Given the description of an element on the screen output the (x, y) to click on. 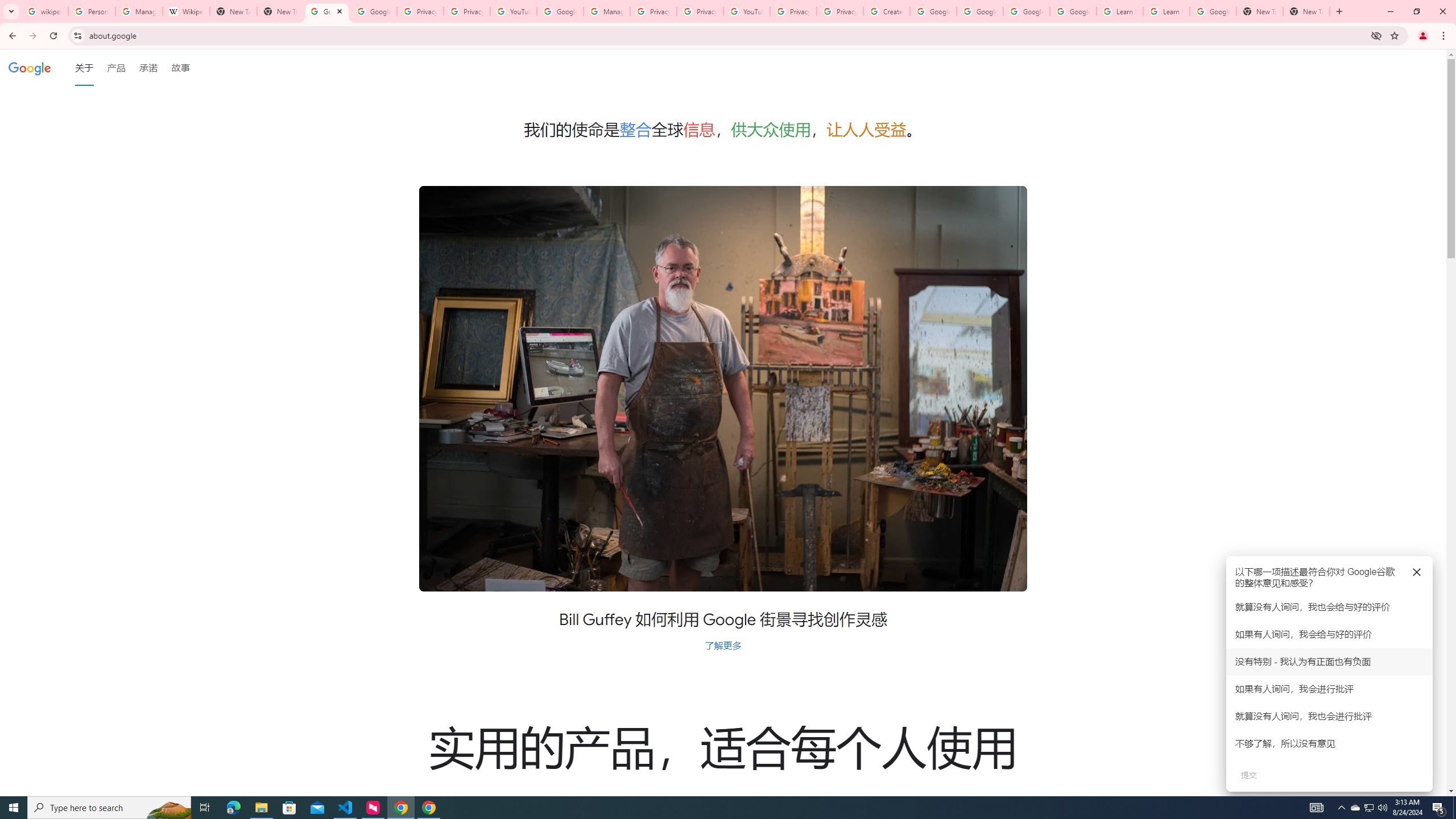
Google Account Help (559, 11)
Google Account (1213, 11)
Google Account Help (1073, 11)
